Given the description of an element on the screen output the (x, y) to click on. 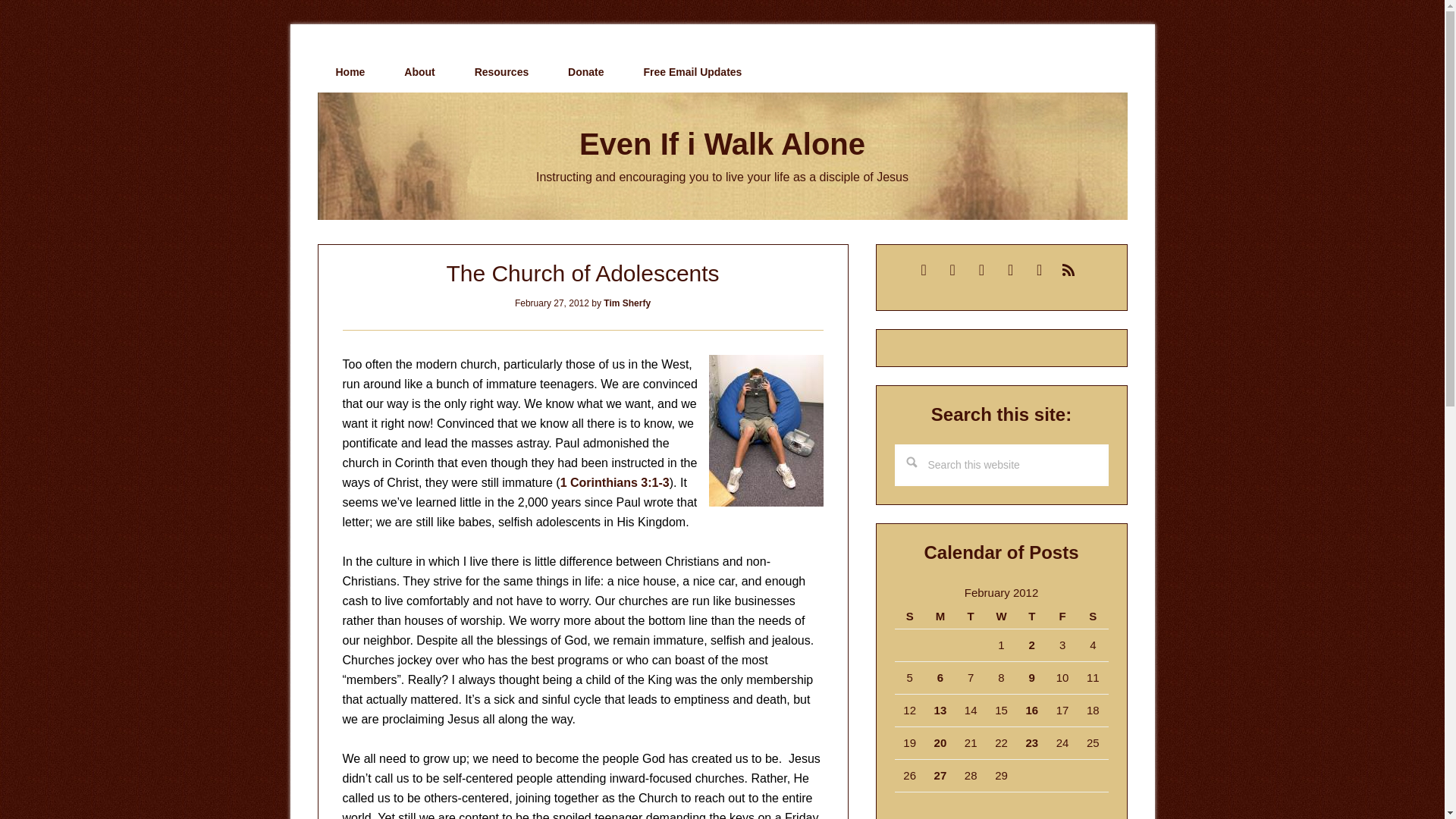
Home (349, 71)
rss (1068, 268)
Default Label (923, 268)
Free Email Updates (692, 71)
twitter (981, 268)
instagram (1039, 268)
gab (952, 268)
mail (923, 268)
Donate (585, 71)
